Given the description of an element on the screen output the (x, y) to click on. 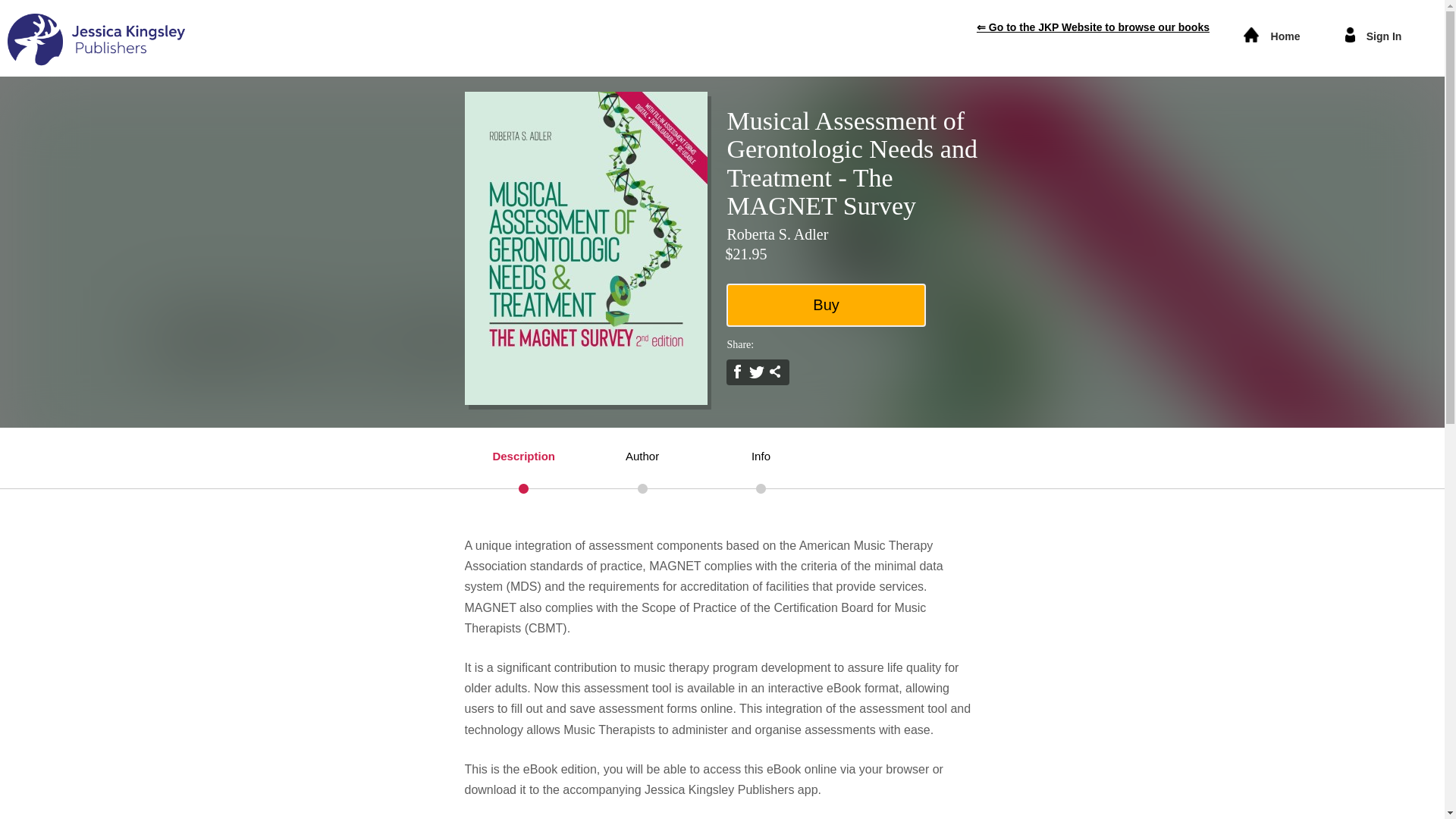
Sign In (1383, 36)
Buy (825, 304)
Home (1285, 36)
